Given the description of an element on the screen output the (x, y) to click on. 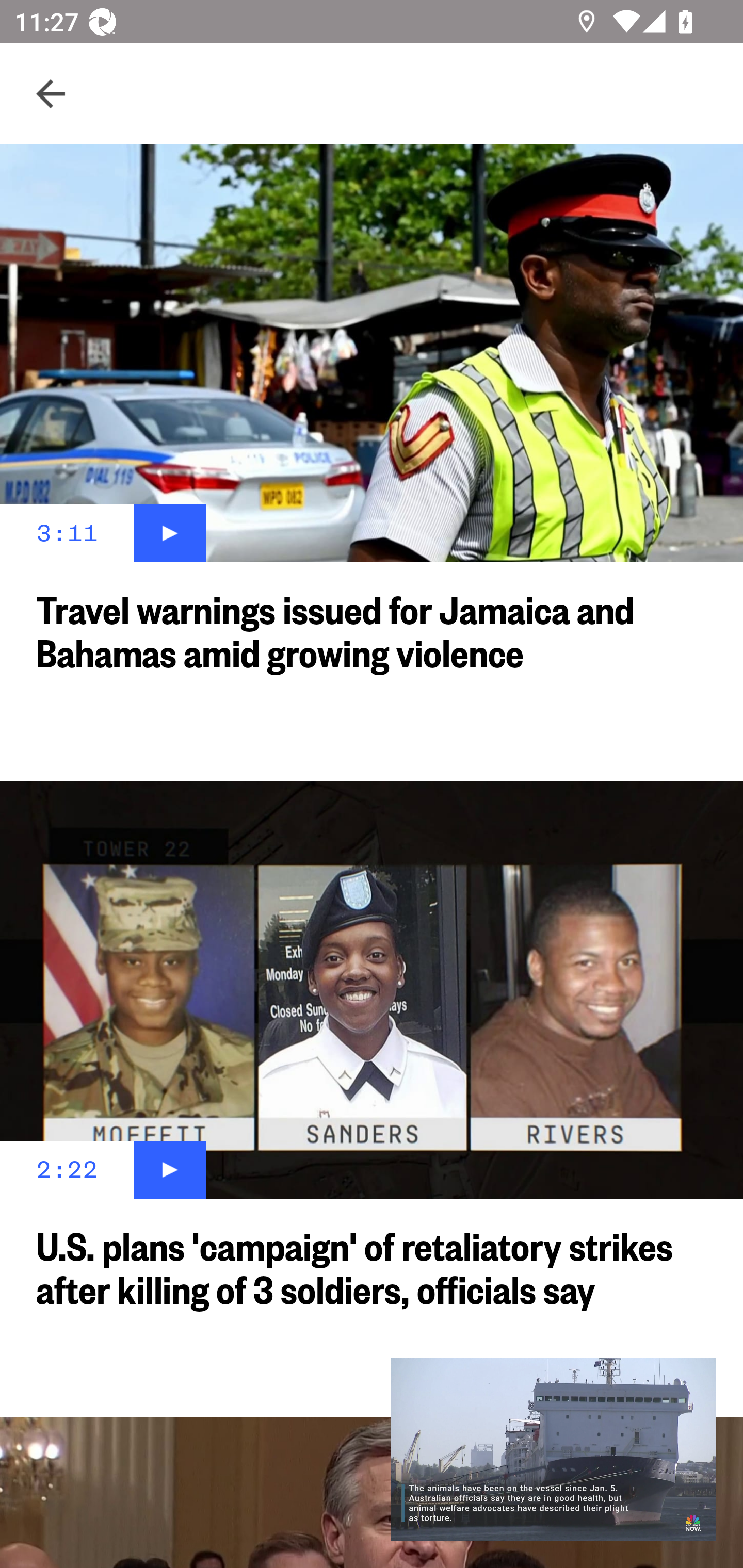
Navigate up (50, 93)
